Given the description of an element on the screen output the (x, y) to click on. 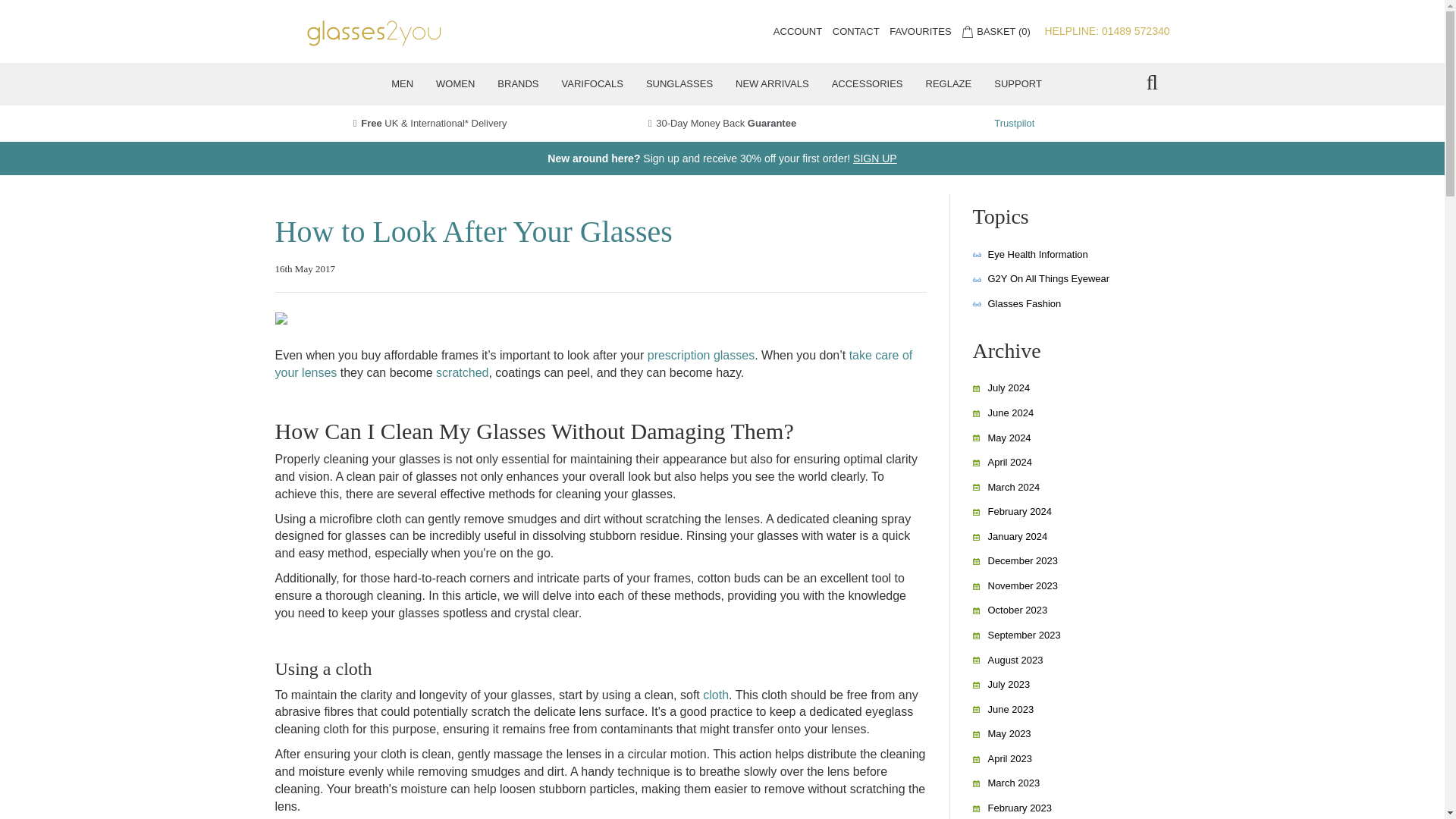
VARIFOCALS (592, 84)
SUNGLASSES (678, 84)
REGLAZE (949, 84)
ACCOUNT (797, 30)
NEW ARRIVALS (772, 84)
FAVOURITES (919, 30)
CONTACT (855, 30)
MEN (402, 84)
BRANDS (518, 84)
ACCESSORIES (867, 84)
SUPPORT (1017, 84)
WOMEN (455, 84)
